Given the description of an element on the screen output the (x, y) to click on. 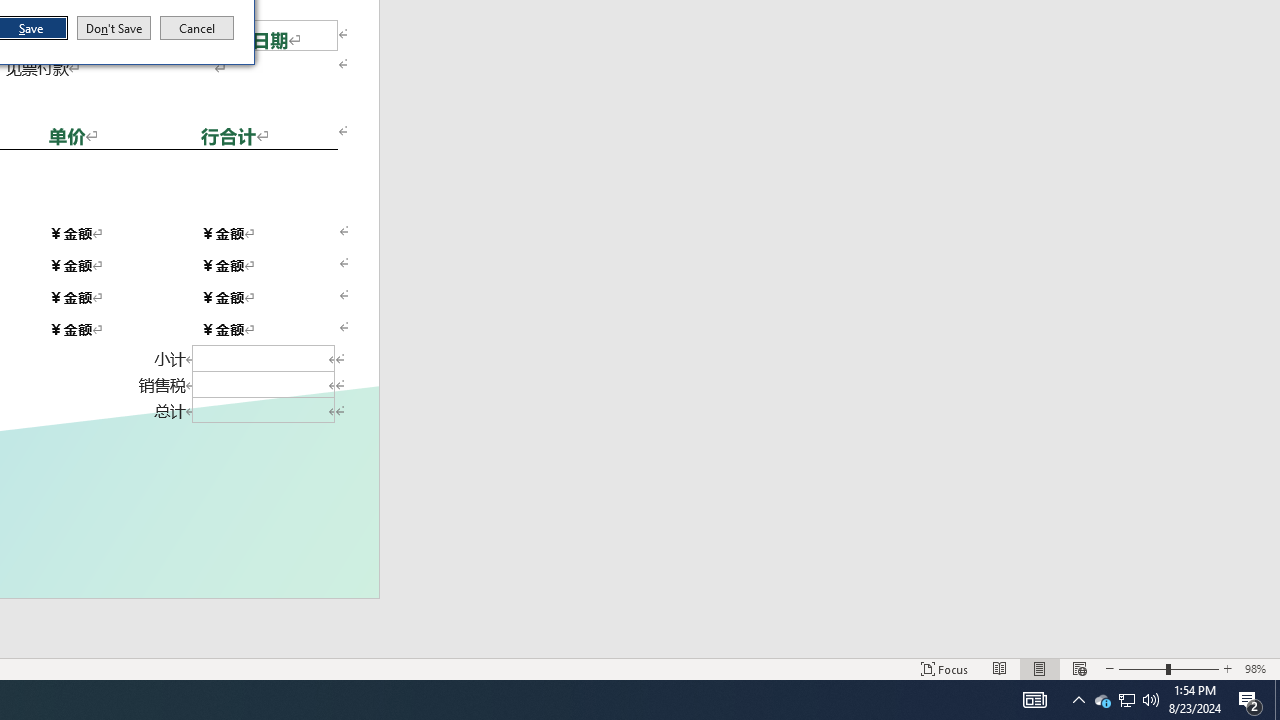
Zoom 98% (1258, 668)
